Given the description of an element on the screen output the (x, y) to click on. 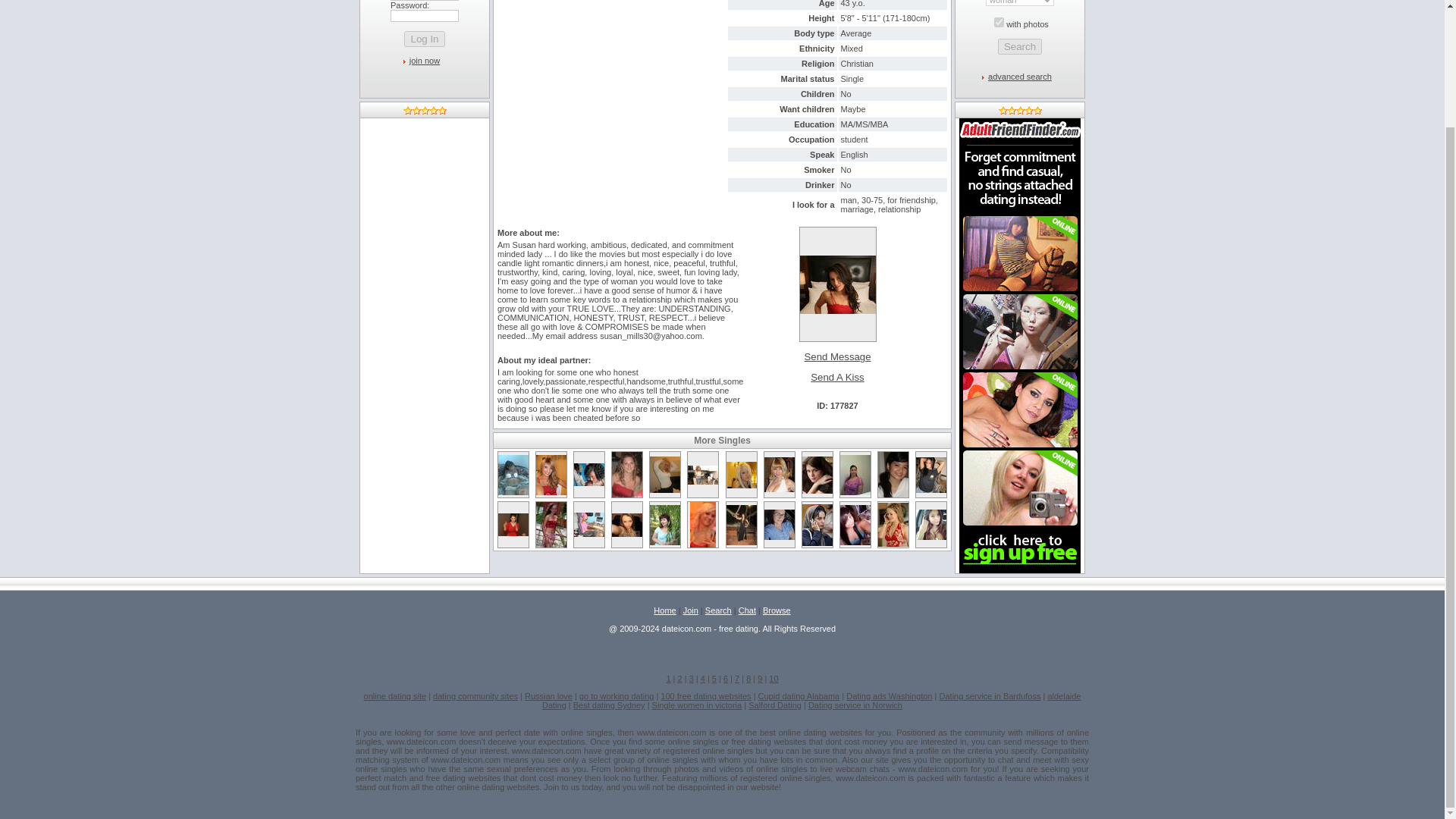
Home (664, 609)
on (999, 22)
advanced search (1019, 76)
Log In (424, 38)
Send Message (836, 356)
Search (1019, 46)
join now (424, 60)
Log In (424, 38)
Search (1019, 46)
Join (690, 609)
Send A Kiss (836, 377)
